Given the description of an element on the screen output the (x, y) to click on. 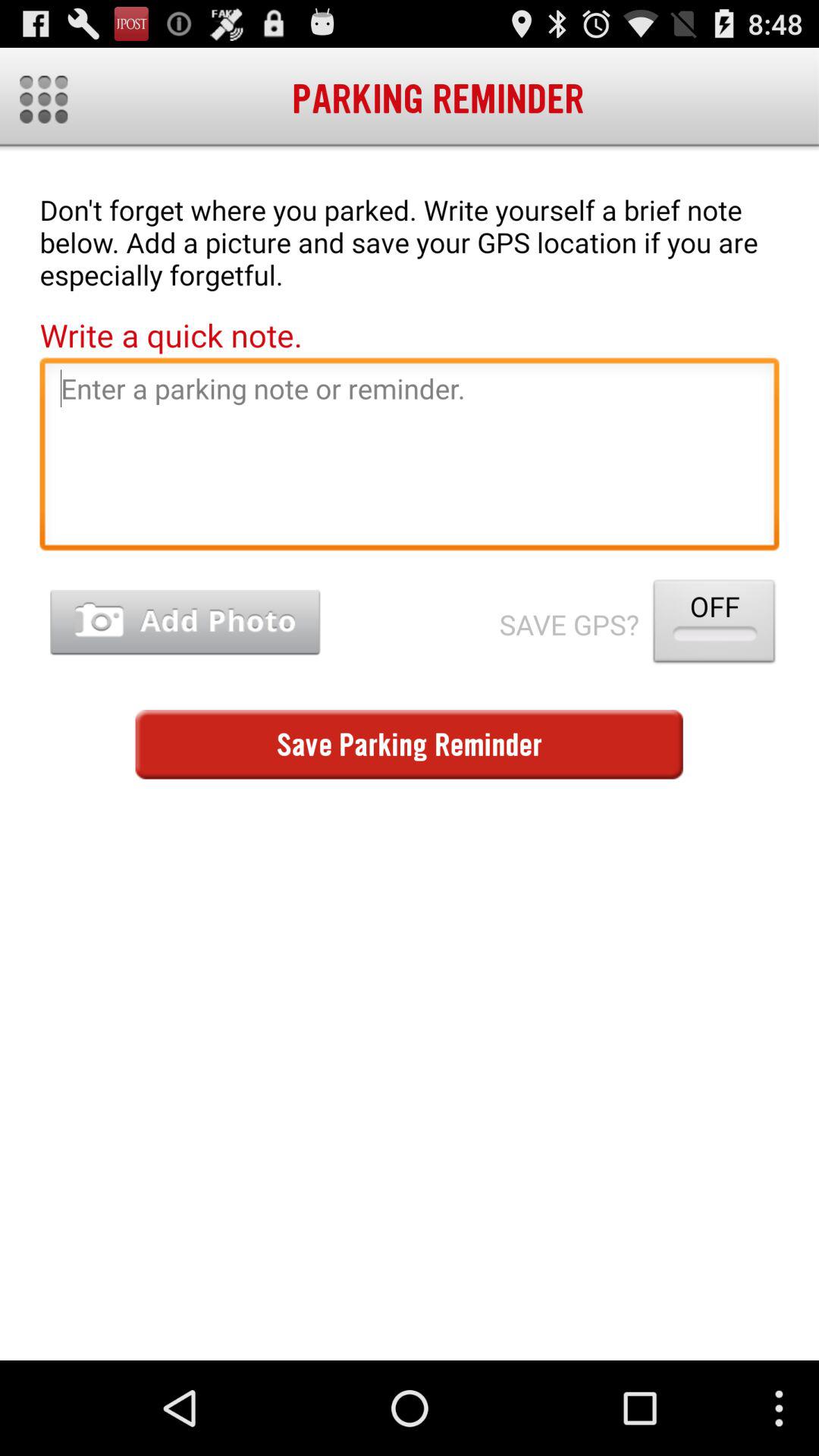
select button above the save parking reminder (185, 622)
